Given the description of an element on the screen output the (x, y) to click on. 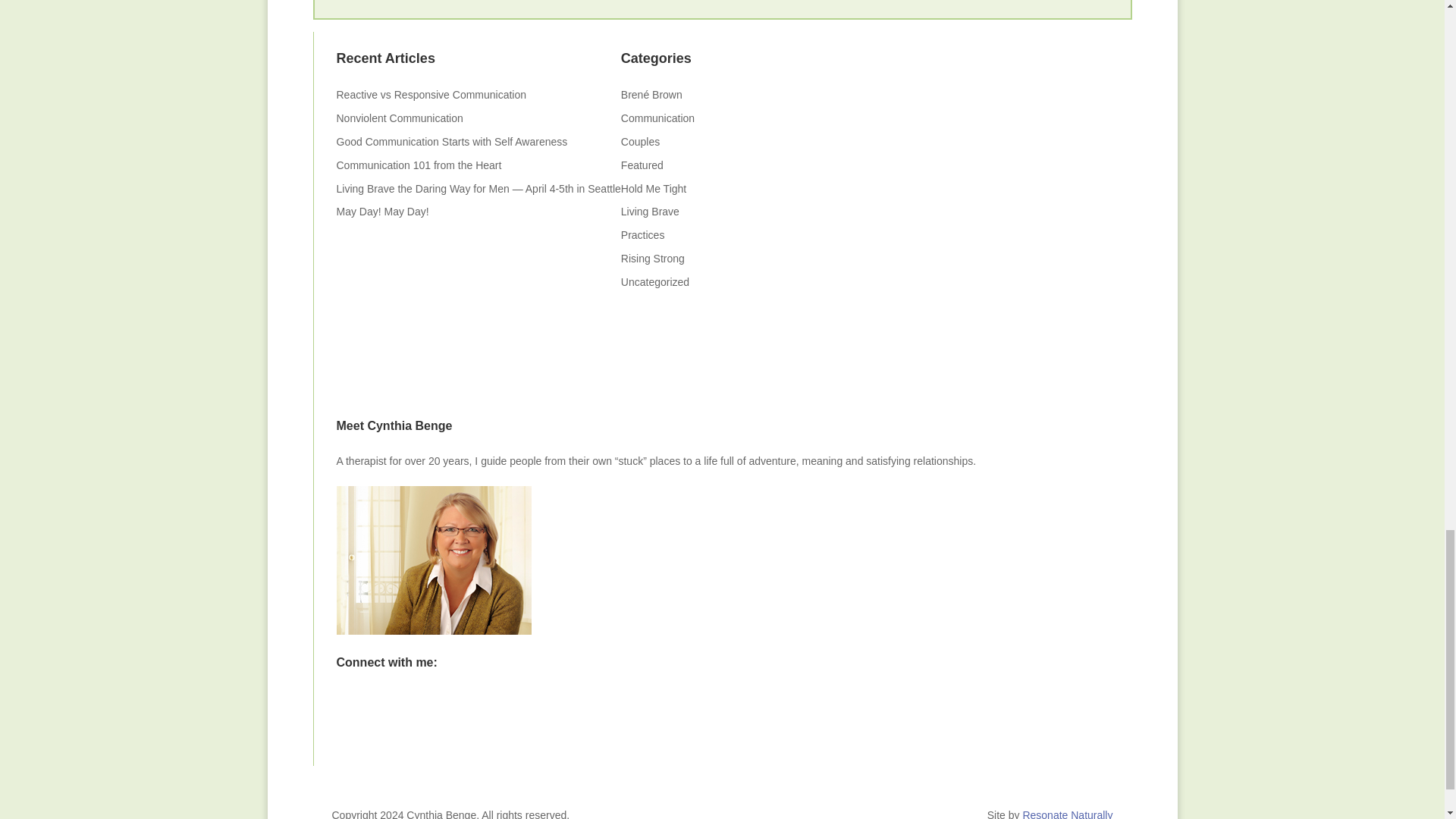
Hold Me Tight (653, 188)
May Day! May Day! (382, 211)
Reactive vs Responsive Communication  (432, 94)
Uncategorized (654, 282)
Practices (643, 234)
Good Communication Starts with Self Awareness (451, 141)
Nonviolent Communication (399, 118)
Couples (640, 141)
Communication 101 from the Heart (419, 164)
Living Brave (650, 211)
